Given the description of an element on the screen output the (x, y) to click on. 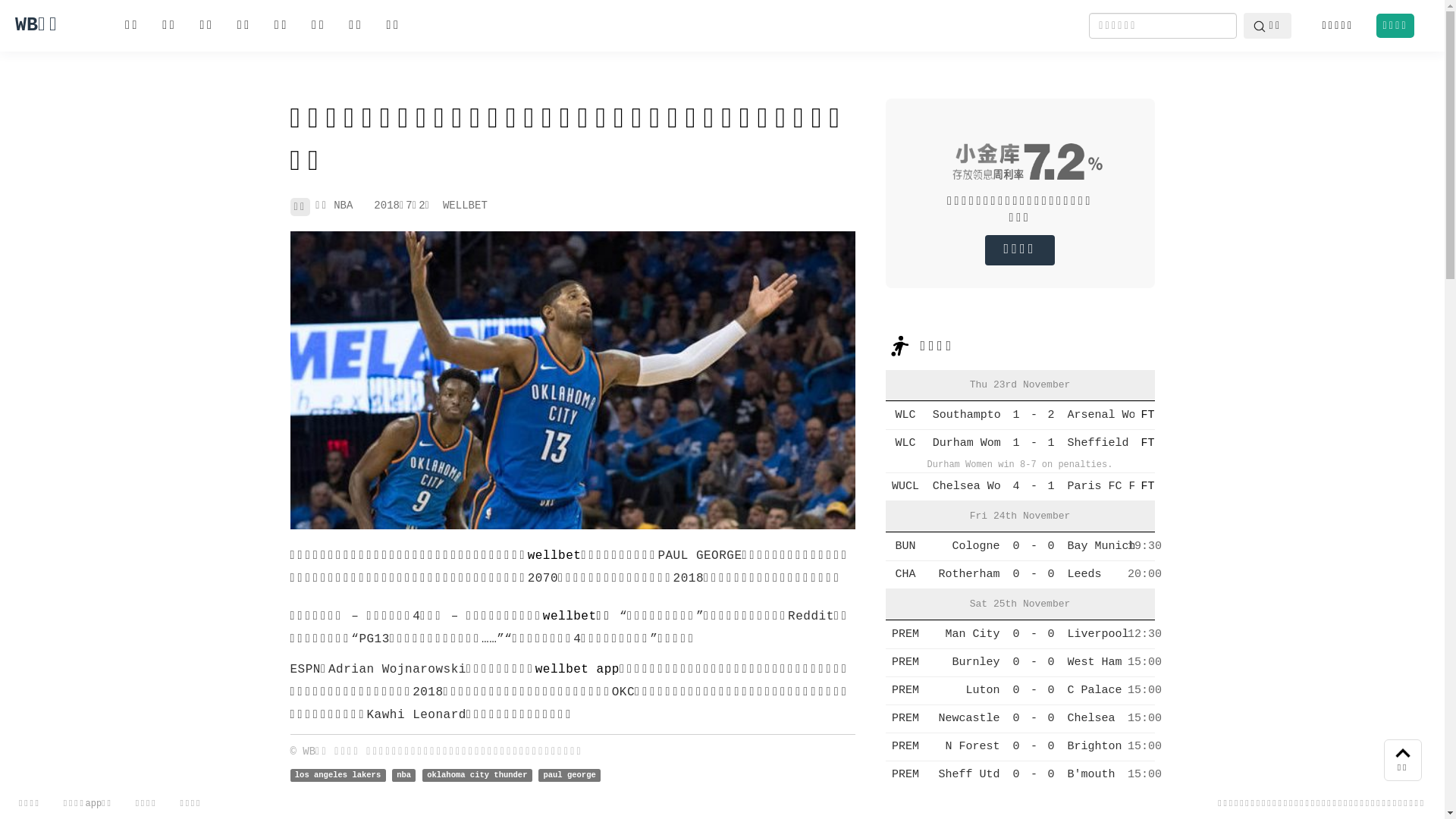
oklahoma city thunder Element type: text (477, 774)
WELLBET Element type: text (464, 205)
nba Element type: text (404, 774)
paul george Element type: text (569, 774)
NBA Element type: text (342, 205)
wellbet app Element type: text (577, 669)
wellbet Element type: text (554, 555)
los angeles lakers Element type: text (337, 774)
